Given the description of an element on the screen output the (x, y) to click on. 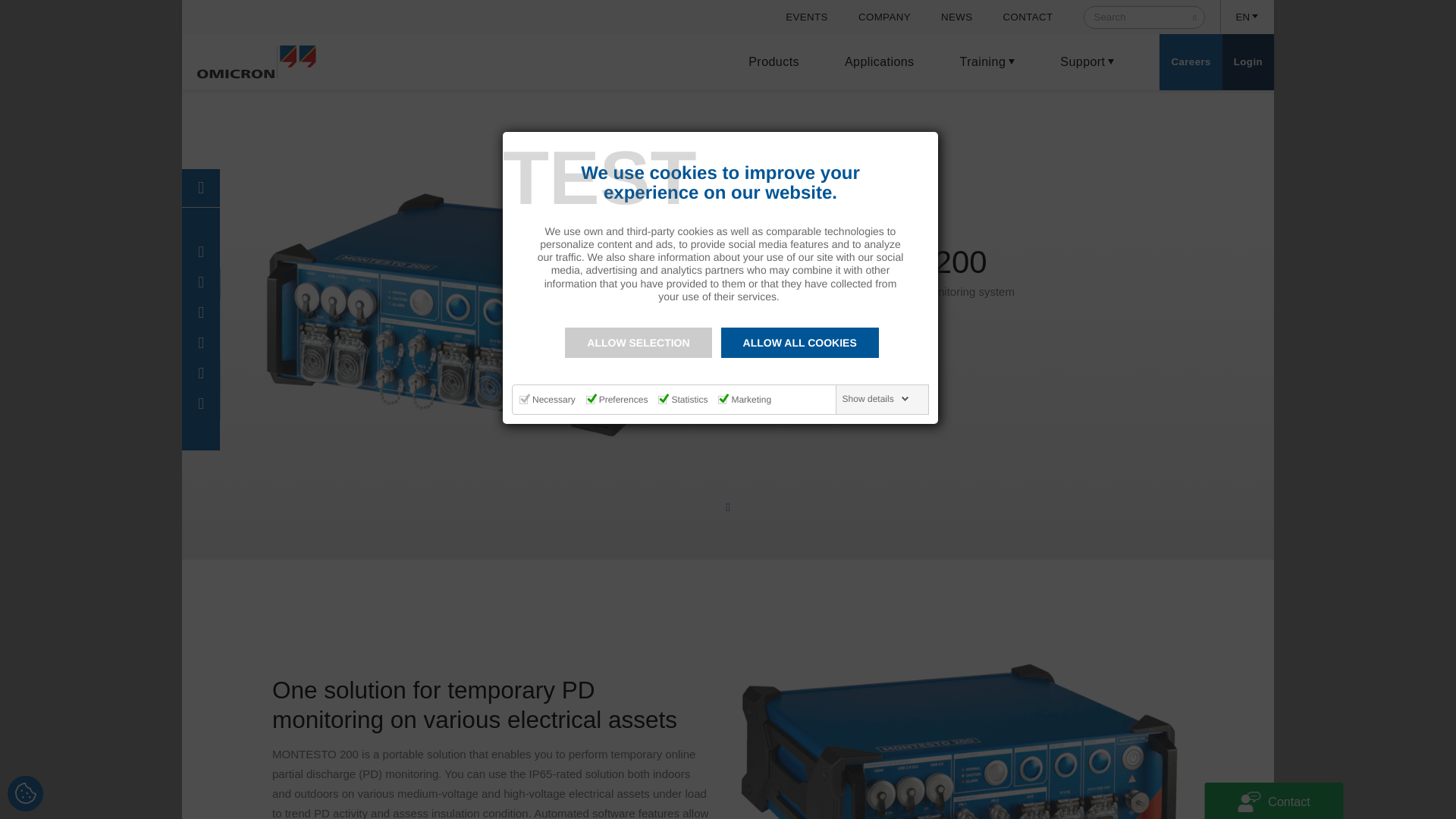
Show details (876, 398)
ALLOW ALL COOKIES (799, 342)
ALLOW SELECTION (637, 342)
